Given the description of an element on the screen output the (x, y) to click on. 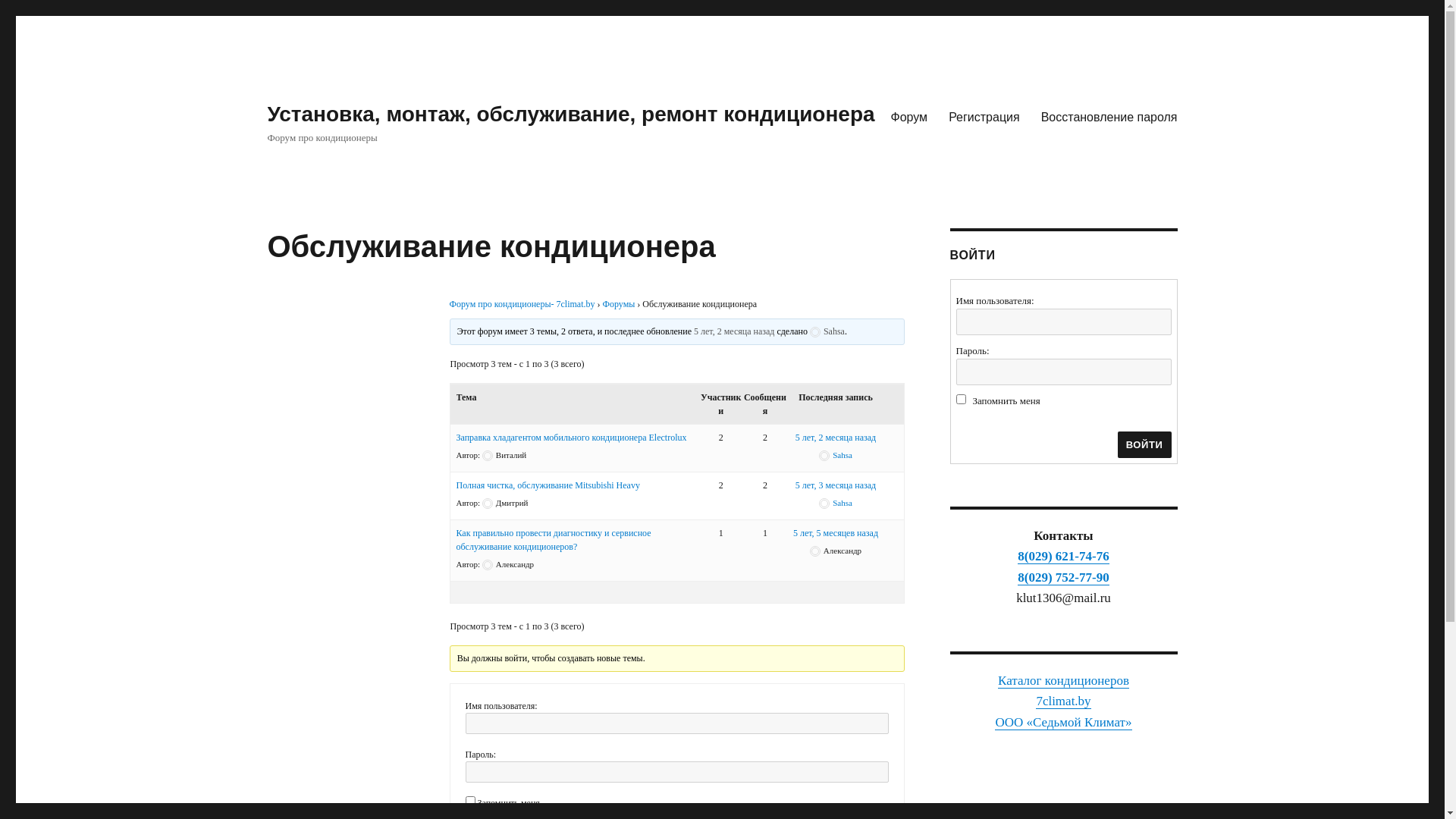
Sahsa Element type: text (826, 331)
8(029) 752-77-90 Element type: text (1062, 577)
Sahsa Element type: text (835, 502)
Sahsa Element type: text (835, 454)
8(029) 621-74-76 Element type: text (1062, 556)
